Given the description of an element on the screen output the (x, y) to click on. 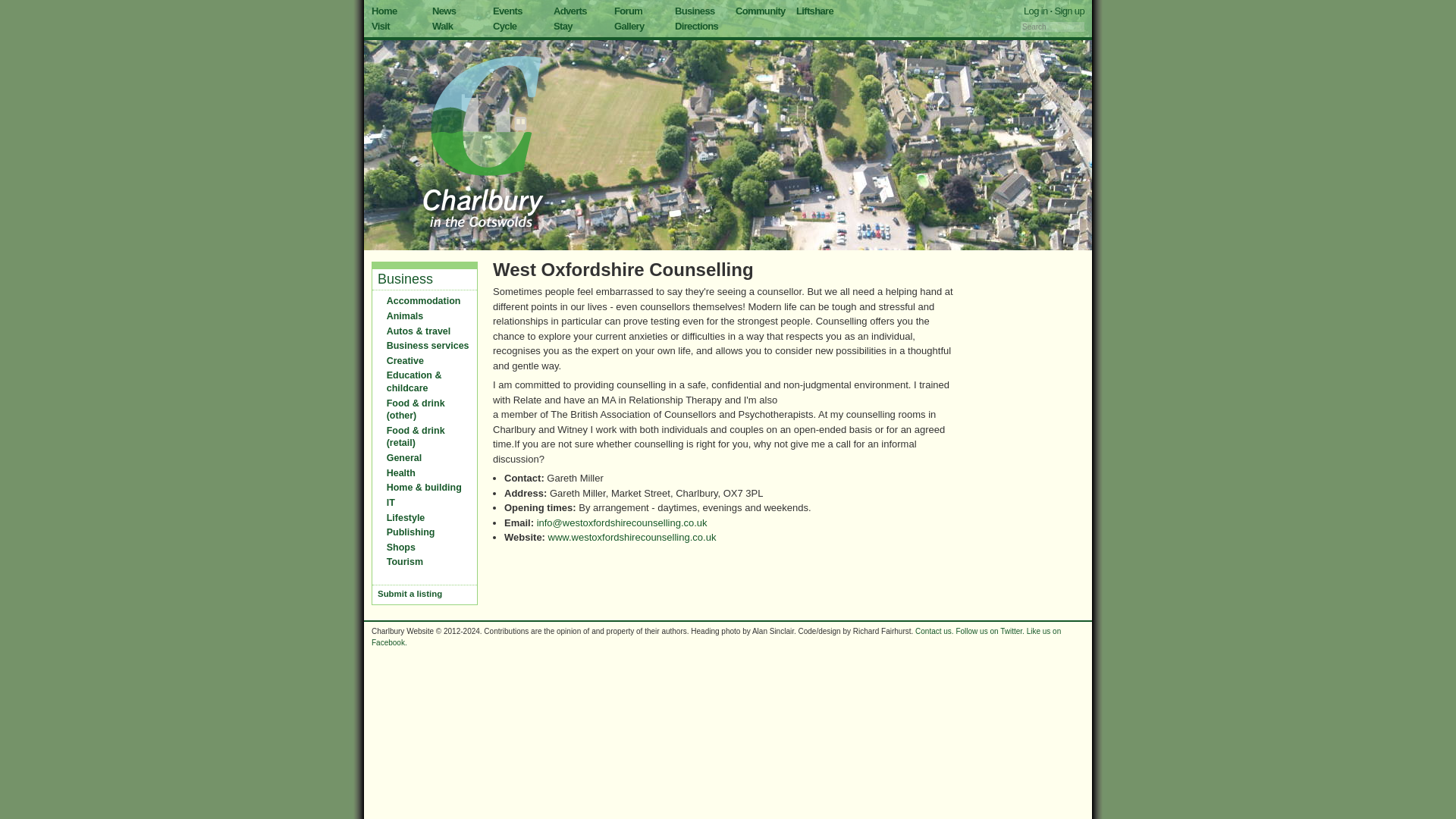
Gallery (629, 25)
Cycle (504, 25)
Visit (380, 25)
Directions (696, 25)
Home (384, 10)
Business (694, 10)
Forum (628, 10)
Business (404, 278)
Community (760, 10)
Liftshare (814, 10)
Adverts (569, 10)
Log in (1035, 10)
Stay (562, 25)
Sign up (1069, 10)
Events (507, 10)
